Given the description of an element on the screen output the (x, y) to click on. 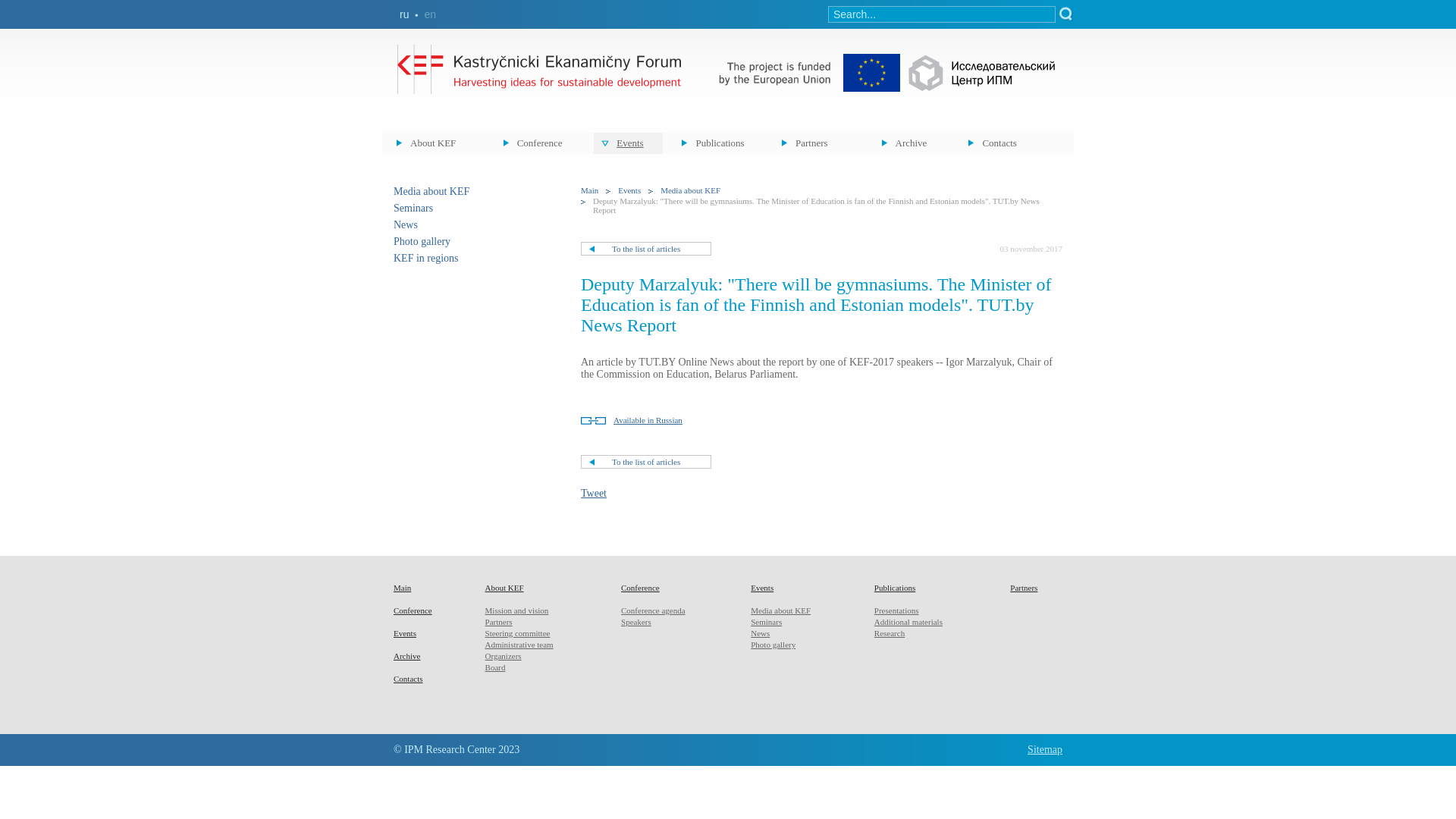
Partners Element type: text (1023, 587)
Mission and vision Element type: text (517, 610)
Events Element type: text (404, 632)
Conference Element type: text (640, 587)
Available in Russian Element type: text (631, 419)
Media about KEF Element type: text (780, 610)
Publications Element type: text (894, 587)
Archive Element type: text (910, 142)
Search Element type: hover (1065, 14)
Conference agenda Element type: text (653, 610)
To the list of articles Element type: text (645, 248)
Media about KEF Element type: text (690, 189)
Seminars Element type: text (765, 621)
KEF in regions Element type: text (425, 257)
Sitemap Element type: text (1044, 749)
ru Element type: text (403, 14)
Photo gallery Element type: text (421, 241)
News Element type: text (759, 632)
Events Element type: text (627, 142)
Steering committee Element type: text (517, 632)
Search... Element type: text (941, 14)
Archive Element type: text (406, 655)
Tweet Element type: text (593, 492)
News Element type: text (405, 224)
Conference Element type: text (539, 142)
Speakers Element type: text (636, 621)
Research Element type: text (889, 632)
Conference Element type: text (412, 610)
Organizers Element type: text (503, 655)
Contacts Element type: text (1004, 142)
Publications Element type: text (717, 142)
Partners Element type: text (498, 621)
Photo gallery Element type: text (772, 644)
Contacts Element type: text (408, 678)
About KEF Element type: text (504, 587)
Presentations Element type: text (896, 610)
Additional materials Element type: text (908, 621)
Seminars Element type: text (413, 207)
Search Element type: text (1065, 14)
Media about KEF Element type: text (431, 191)
Board Element type: text (495, 666)
Main Element type: text (589, 189)
About KEF Element type: text (435, 142)
Administrative team Element type: text (519, 644)
Events Element type: text (761, 587)
Main Element type: text (402, 587)
Events Element type: text (629, 189)
Partners Element type: text (817, 142)
To the list of articles Element type: text (645, 461)
